Given the description of an element on the screen output the (x, y) to click on. 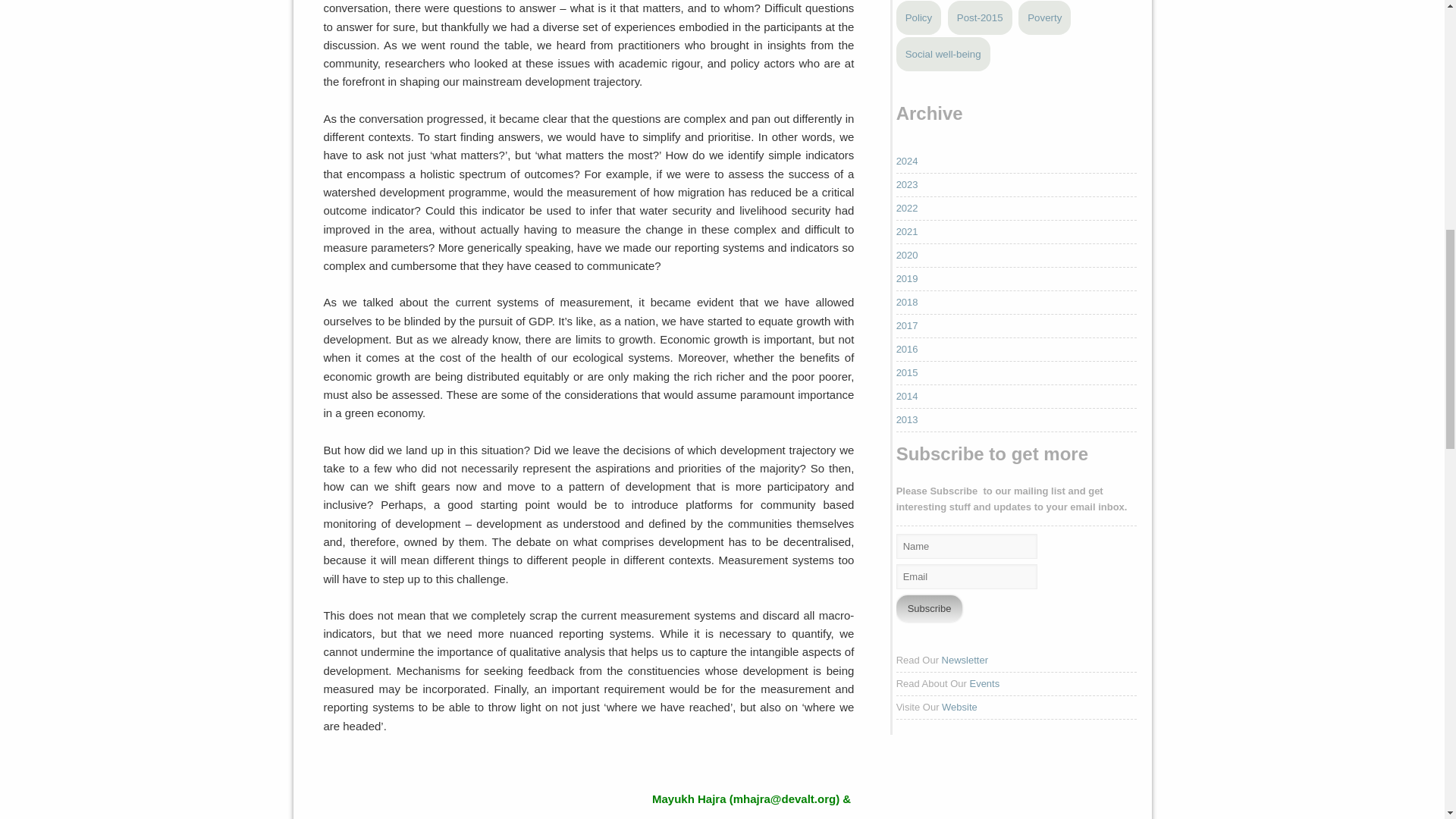
Subscribe (929, 608)
